Given the description of an element on the screen output the (x, y) to click on. 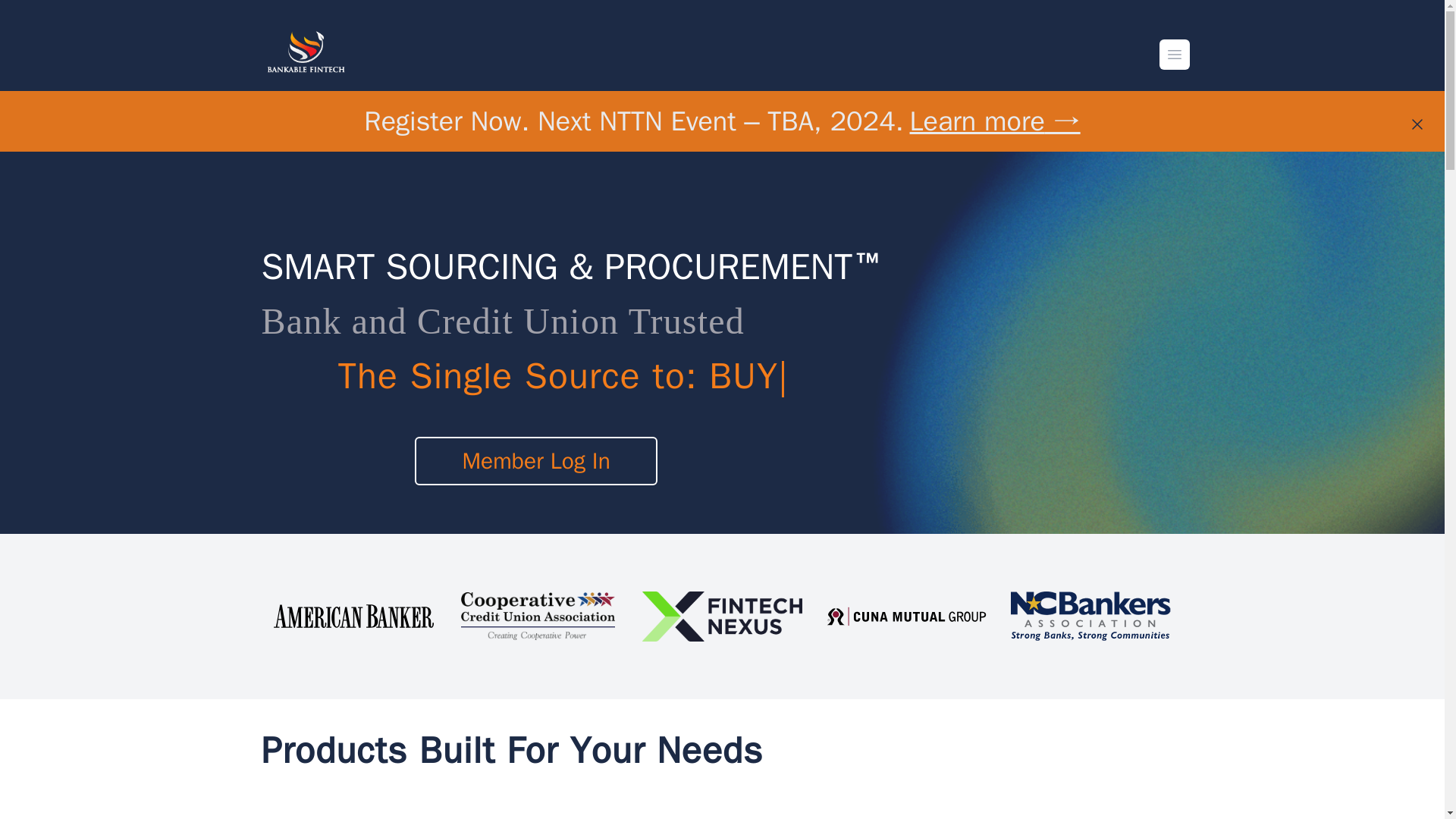
Open menu (1173, 54)
Member Log In (536, 460)
Bankable Fintech (305, 54)
Dismiss (1417, 123)
